Given the description of an element on the screen output the (x, y) to click on. 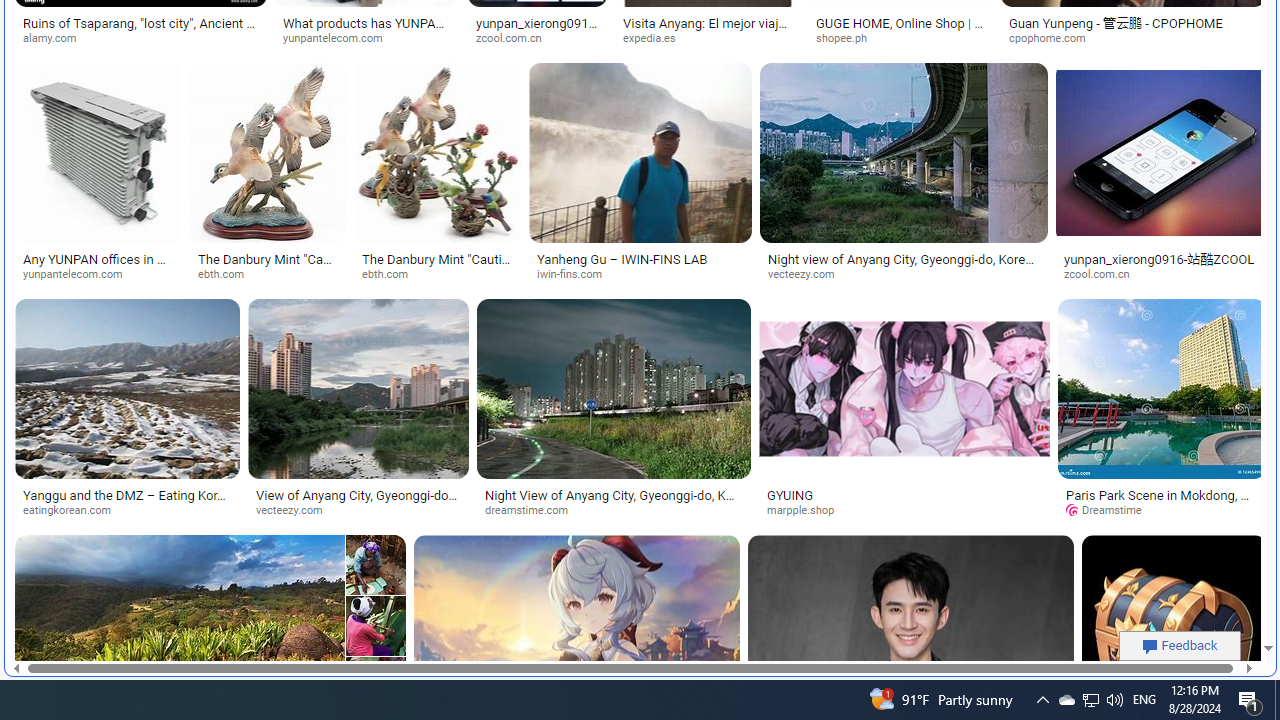
ebth.com (392, 273)
Image result for guge yunpan (1173, 625)
cpophome.com (1053, 37)
alamy.com (140, 38)
